Given the description of an element on the screen output the (x, y) to click on. 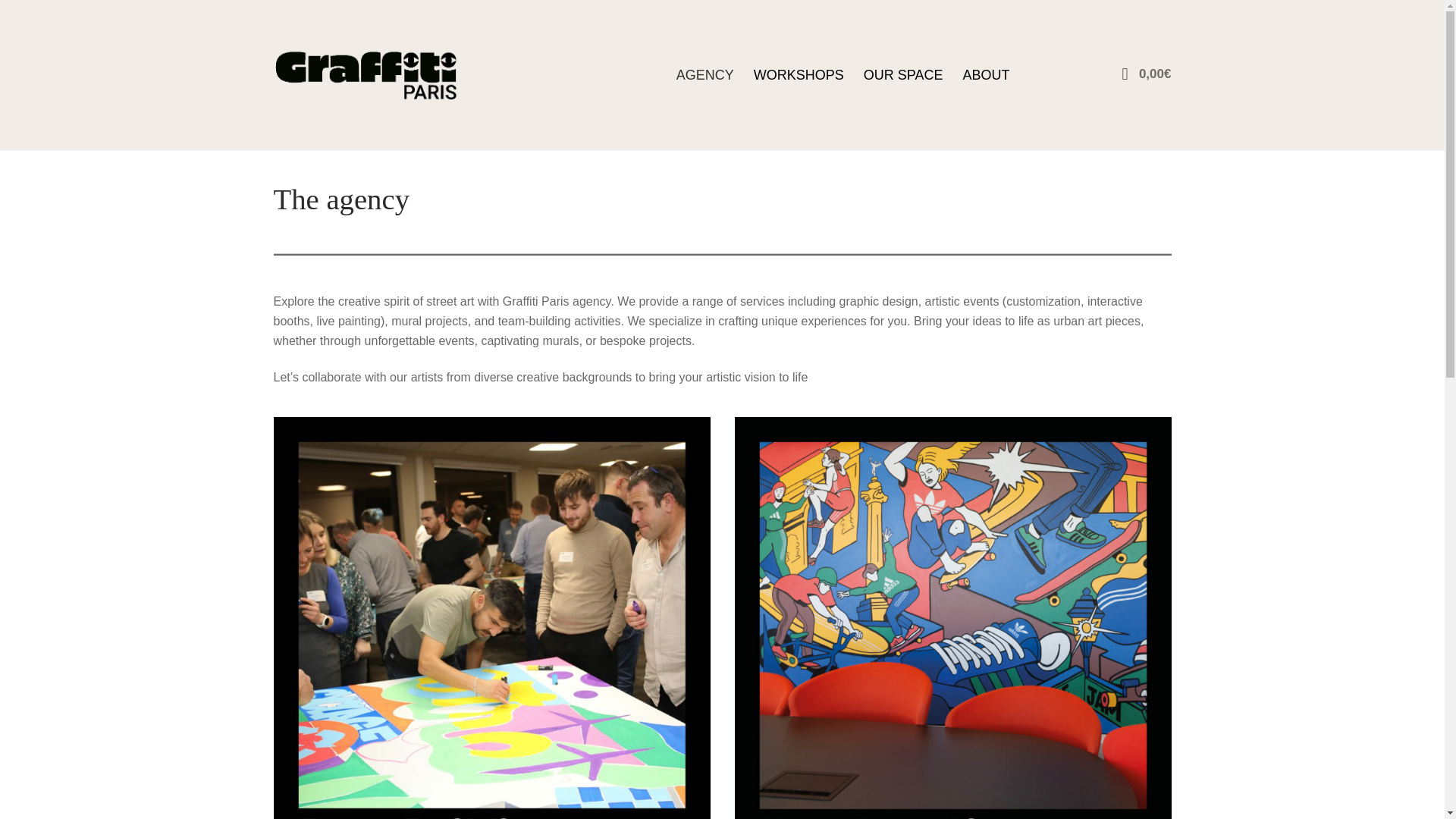
OUR SPACE (903, 74)
ABOUT (985, 74)
AGENCY (705, 74)
WORKSHOPS (798, 74)
